Given the description of an element on the screen output the (x, y) to click on. 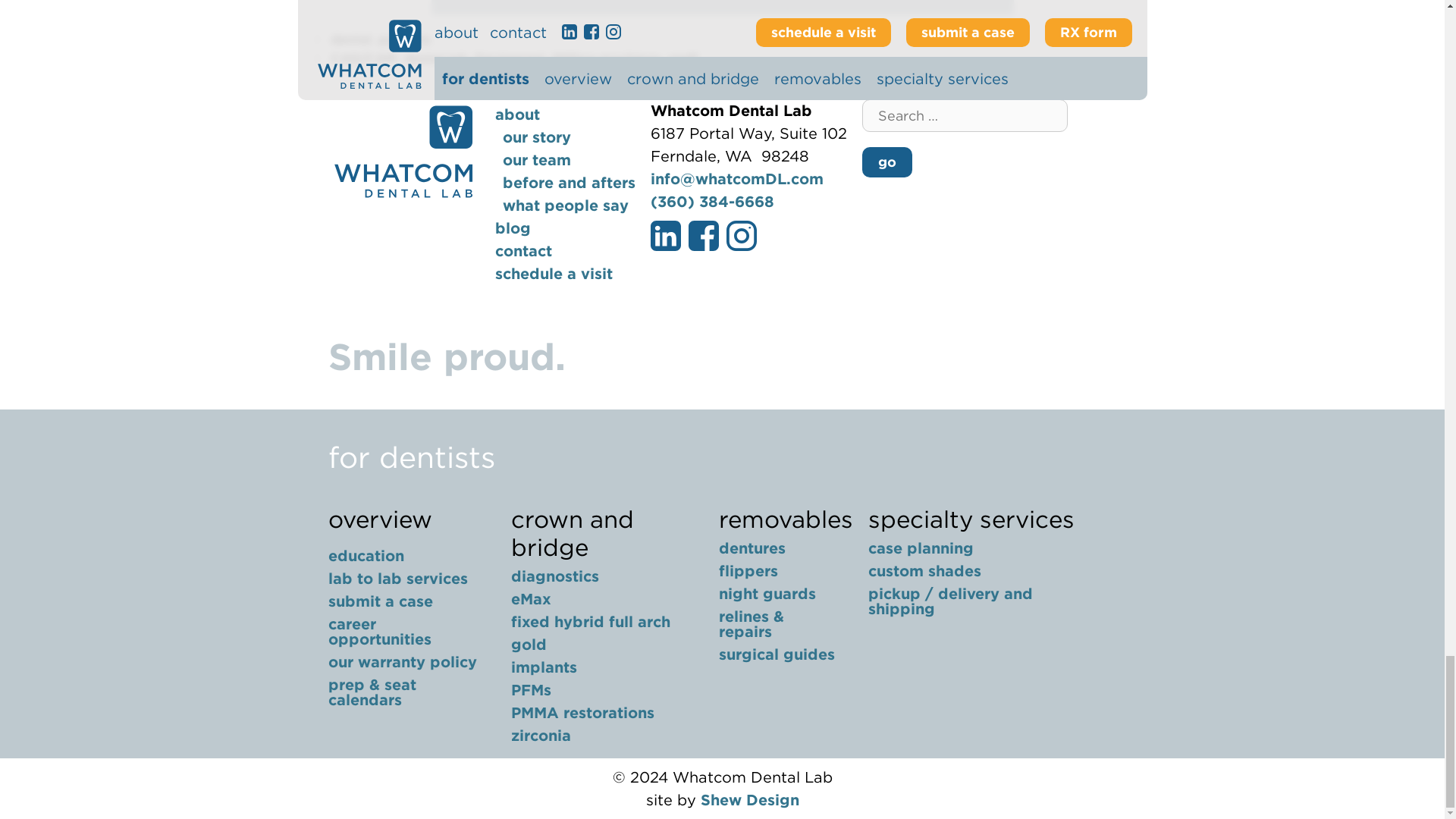
Search for: (964, 114)
 go (886, 162)
 go (886, 162)
